Given the description of an element on the screen output the (x, y) to click on. 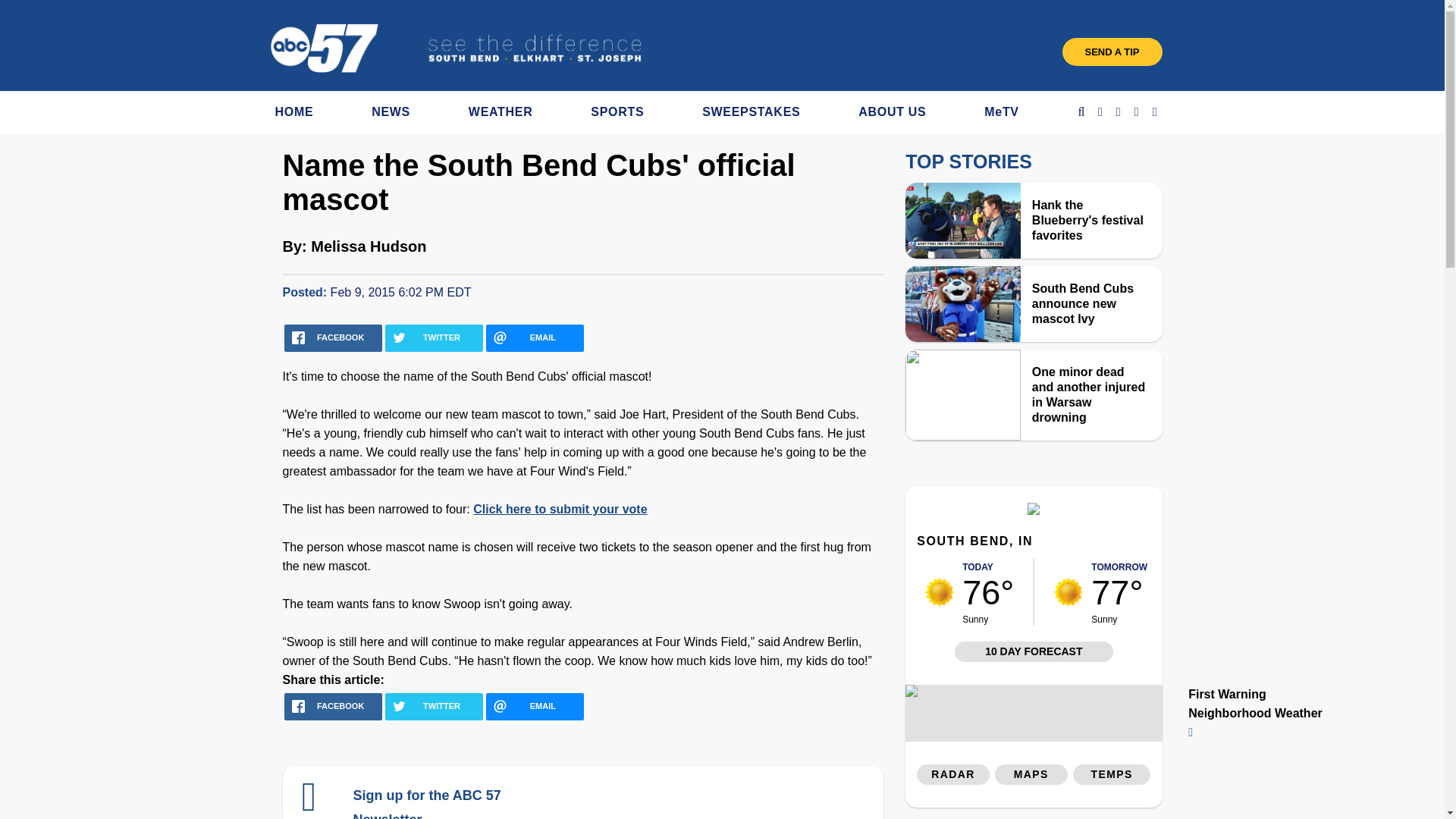
weather (1067, 592)
Weather (1033, 510)
weather (939, 592)
